Given the description of an element on the screen output the (x, y) to click on. 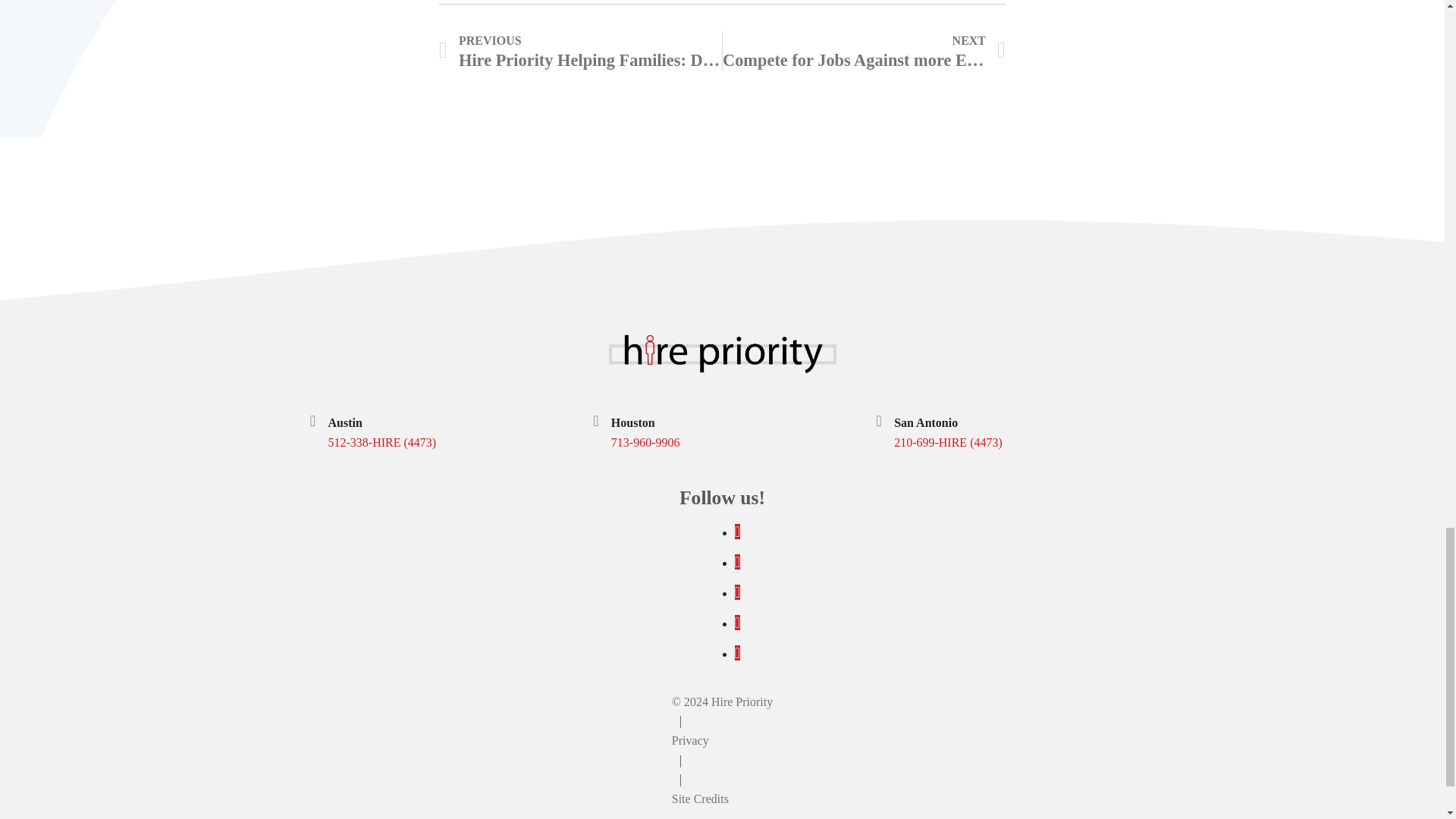
Site Credits (864, 50)
Privacy (700, 798)
713-960-9906 (690, 739)
